Given the description of an element on the screen output the (x, y) to click on. 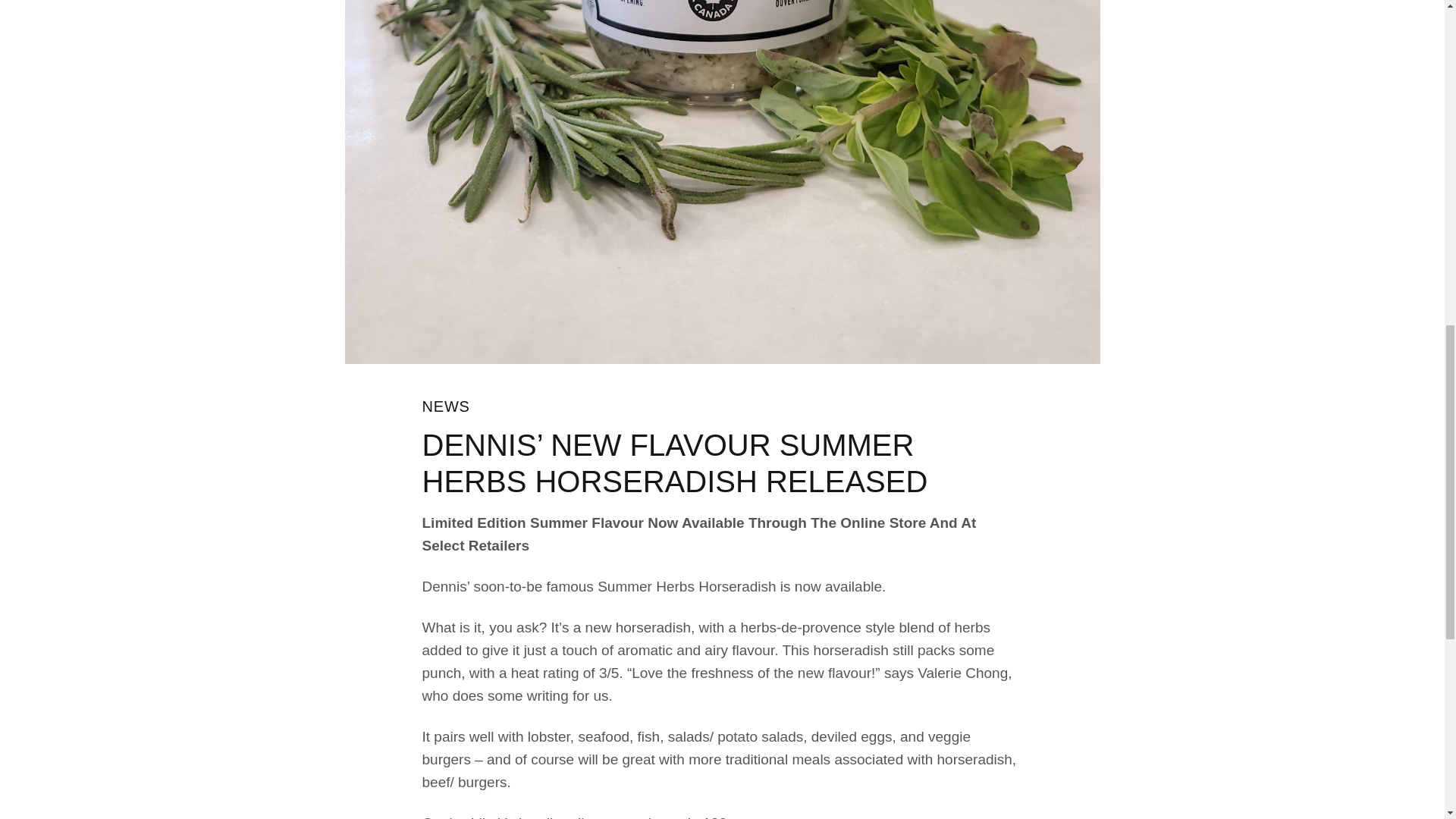
NEWS (445, 406)
